Given the description of an element on the screen output the (x, y) to click on. 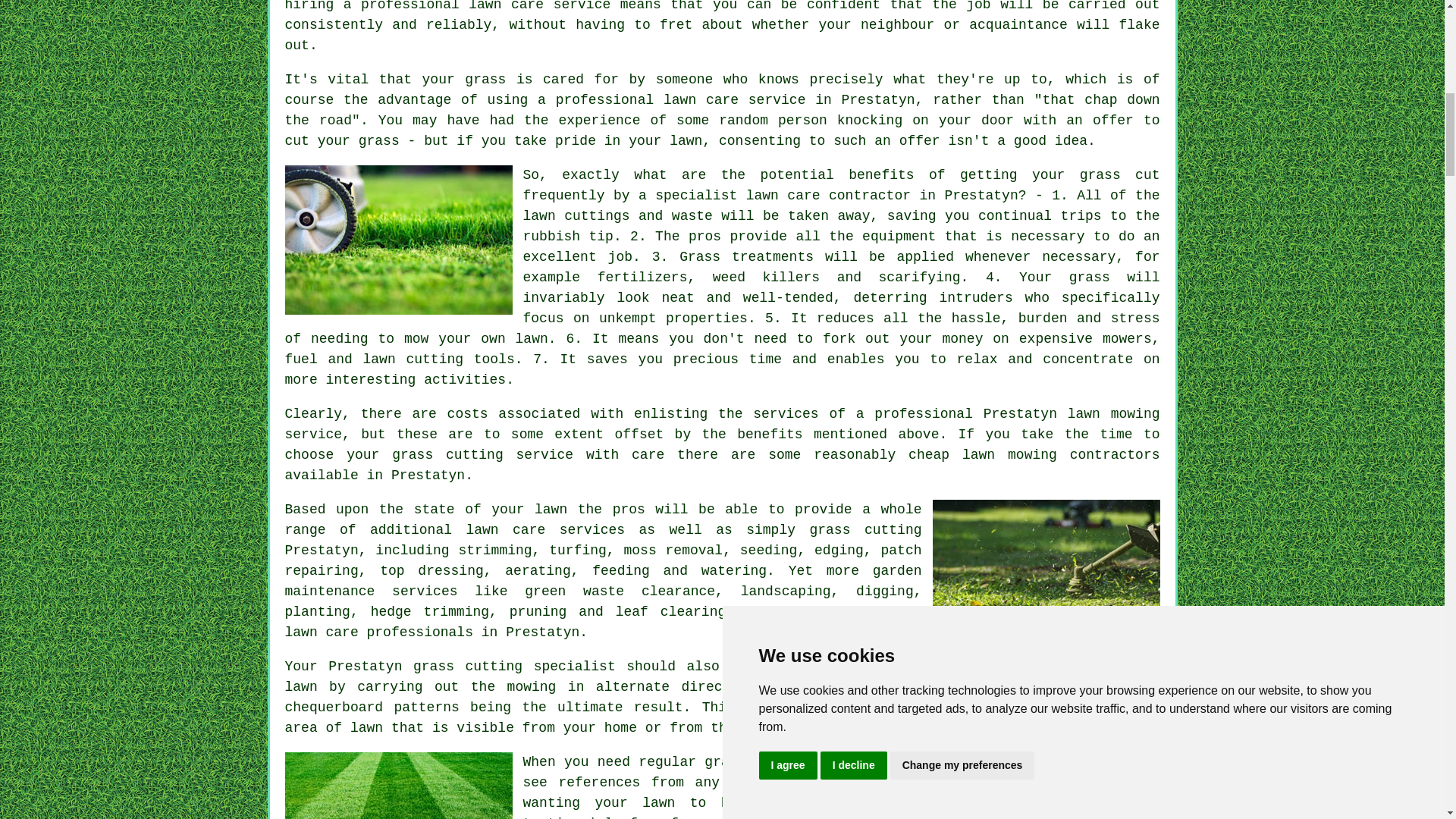
Lawn Mowing Prestatyn UK (398, 239)
lawn care services (544, 529)
grass cutting (757, 761)
